Given the description of an element on the screen output the (x, y) to click on. 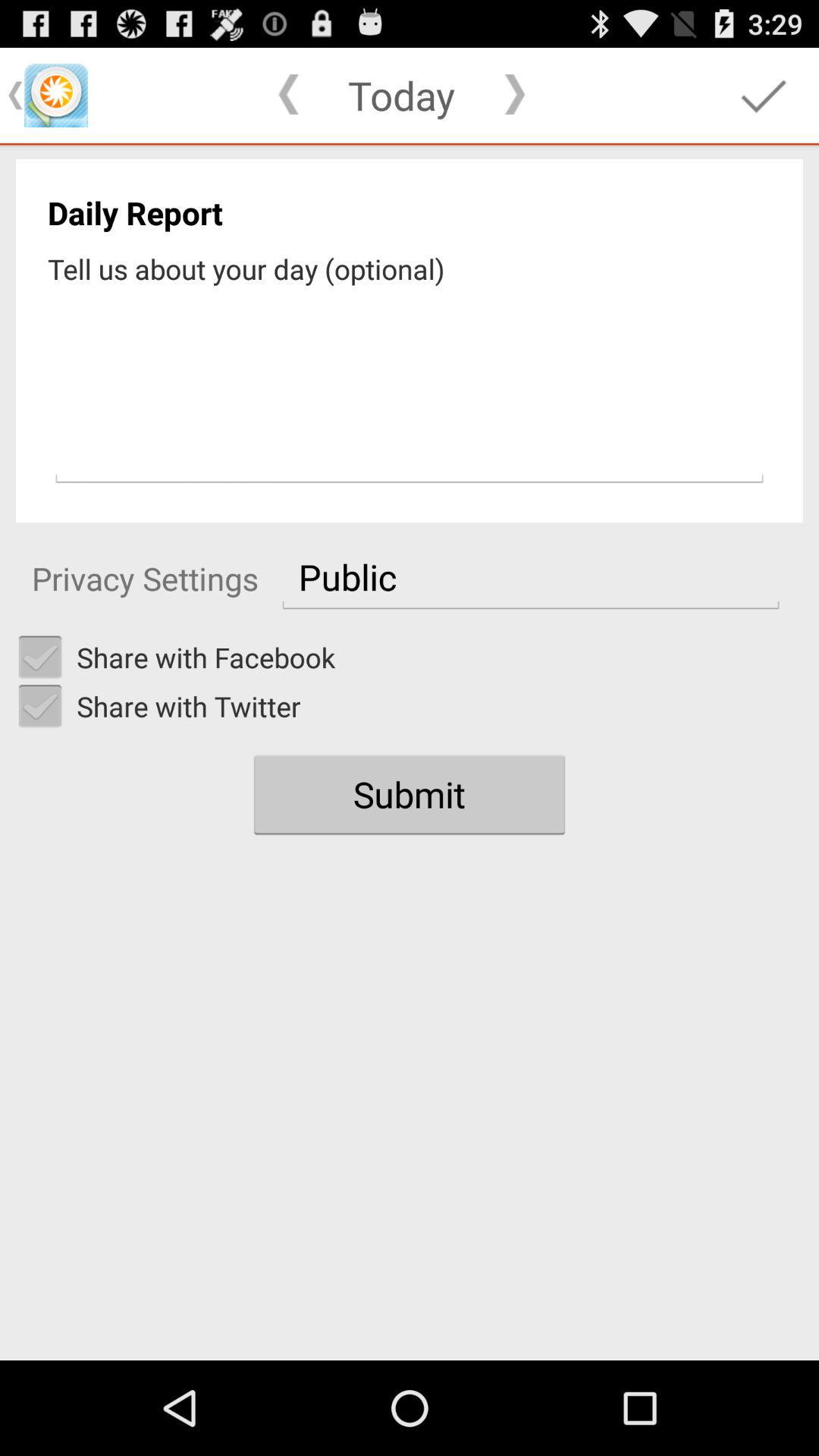
share with twitter checkbox (39, 705)
